Given the description of an element on the screen output the (x, y) to click on. 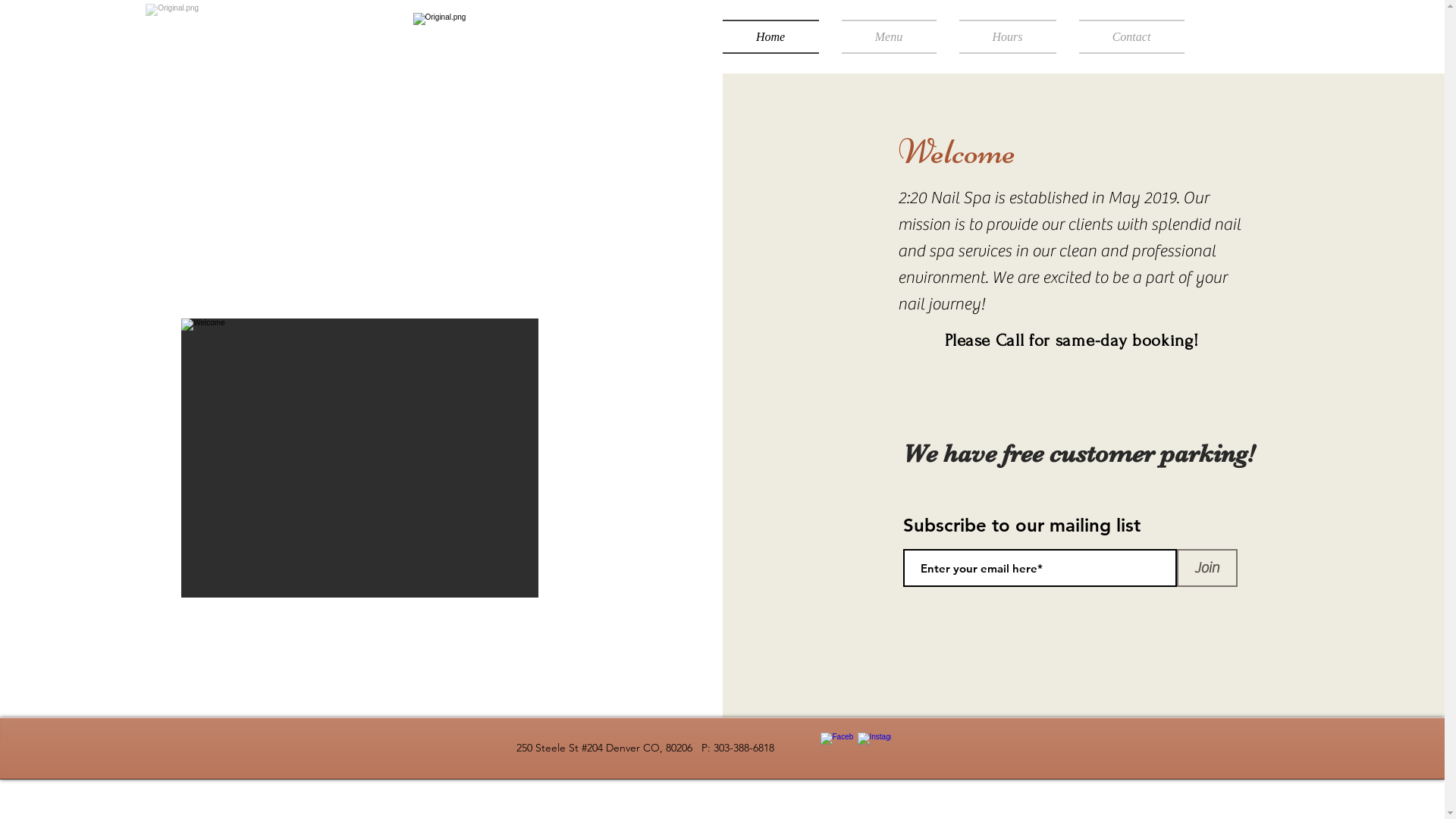
Contact Element type: text (1125, 36)
Menu Element type: text (888, 36)
Home Element type: text (775, 36)
Hours Element type: text (1007, 36)
Join Element type: text (1206, 567)
